Given the description of an element on the screen output the (x, y) to click on. 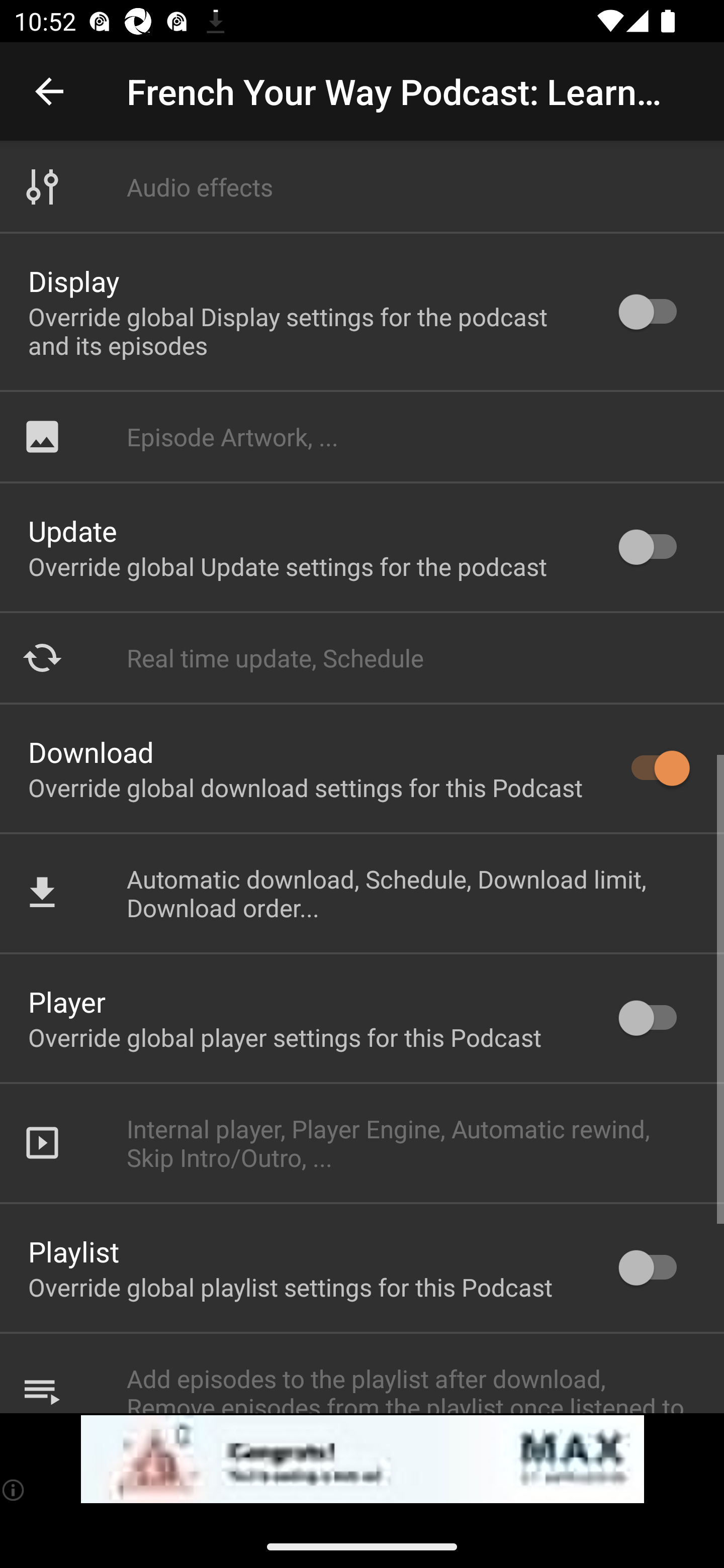
Navigate up (49, 91)
Audio effects (362, 187)
Episode Artwork, ... (362, 436)
Real time update, Schedule (362, 657)
app-monetization (362, 1459)
(i) (14, 1489)
